Given the description of an element on the screen output the (x, y) to click on. 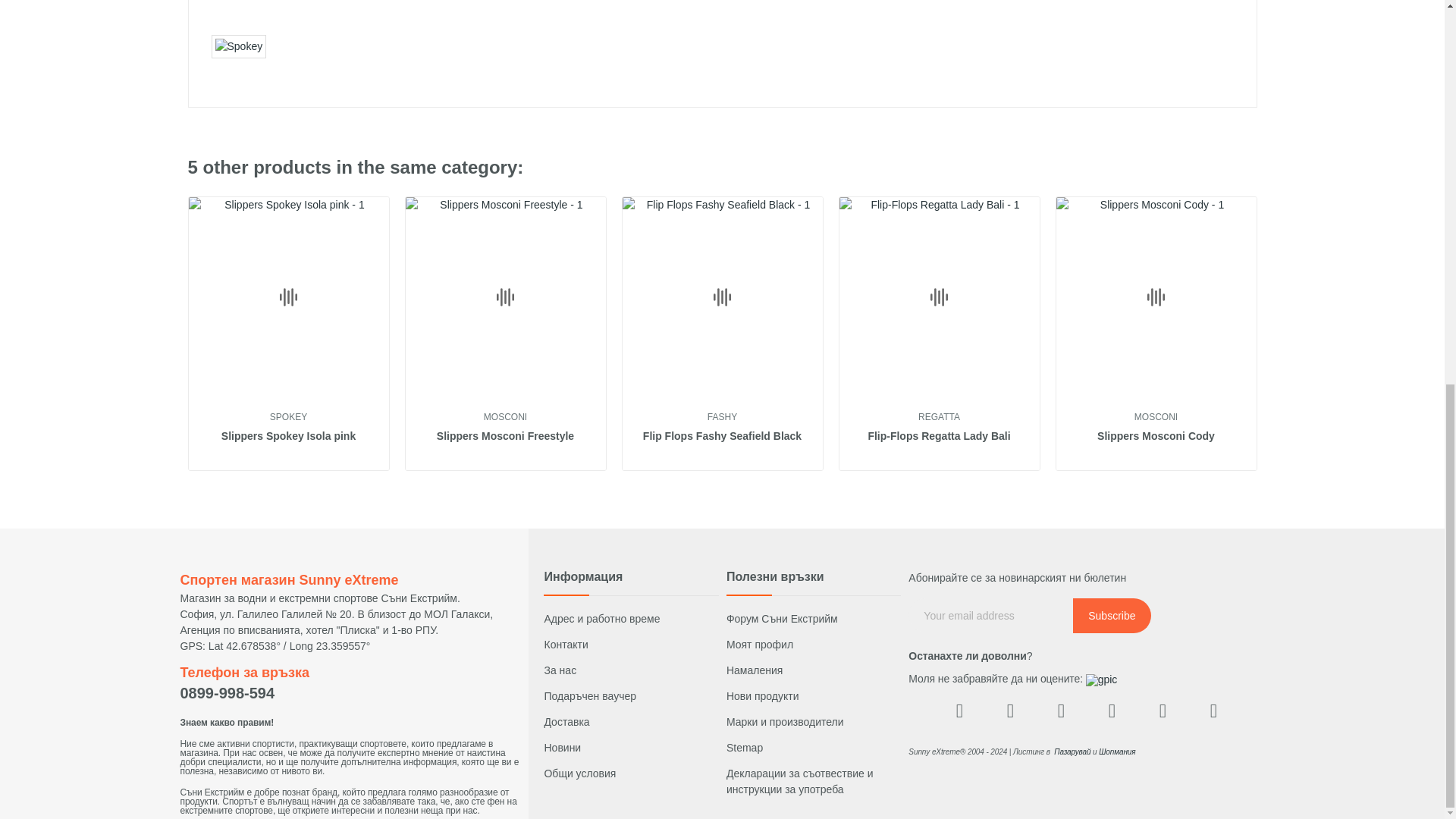
Flip Flops Fashy Seafield Black (721, 436)
Flip-Flops Regatta Lady Bali (938, 436)
Slippers Mosconi Freestyle (505, 436)
Slippers Spokey Isola pink (288, 436)
